Given the description of an element on the screen output the (x, y) to click on. 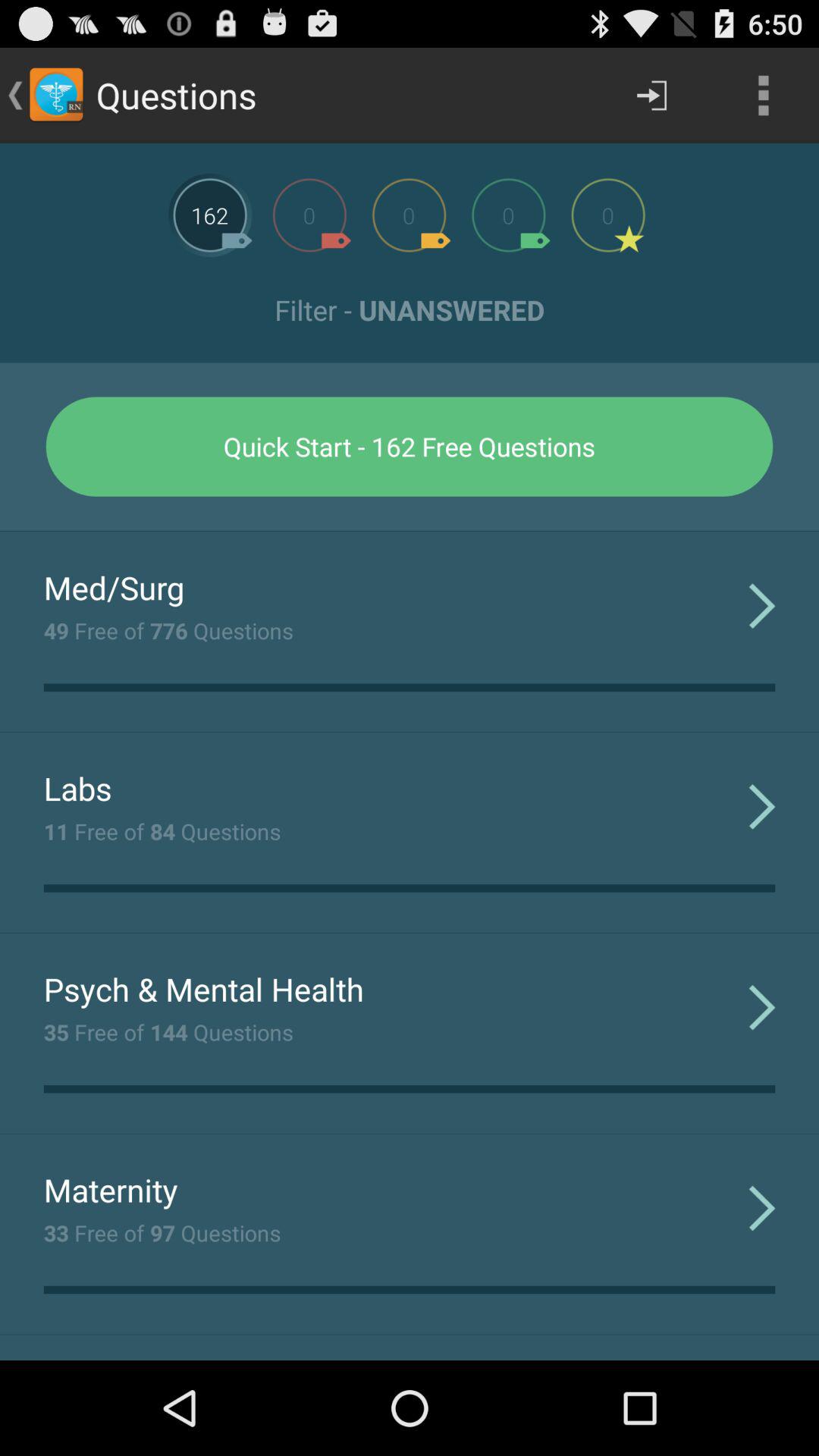
click item to the right of psych & mental health (762, 1006)
